Given the description of an element on the screen output the (x, y) to click on. 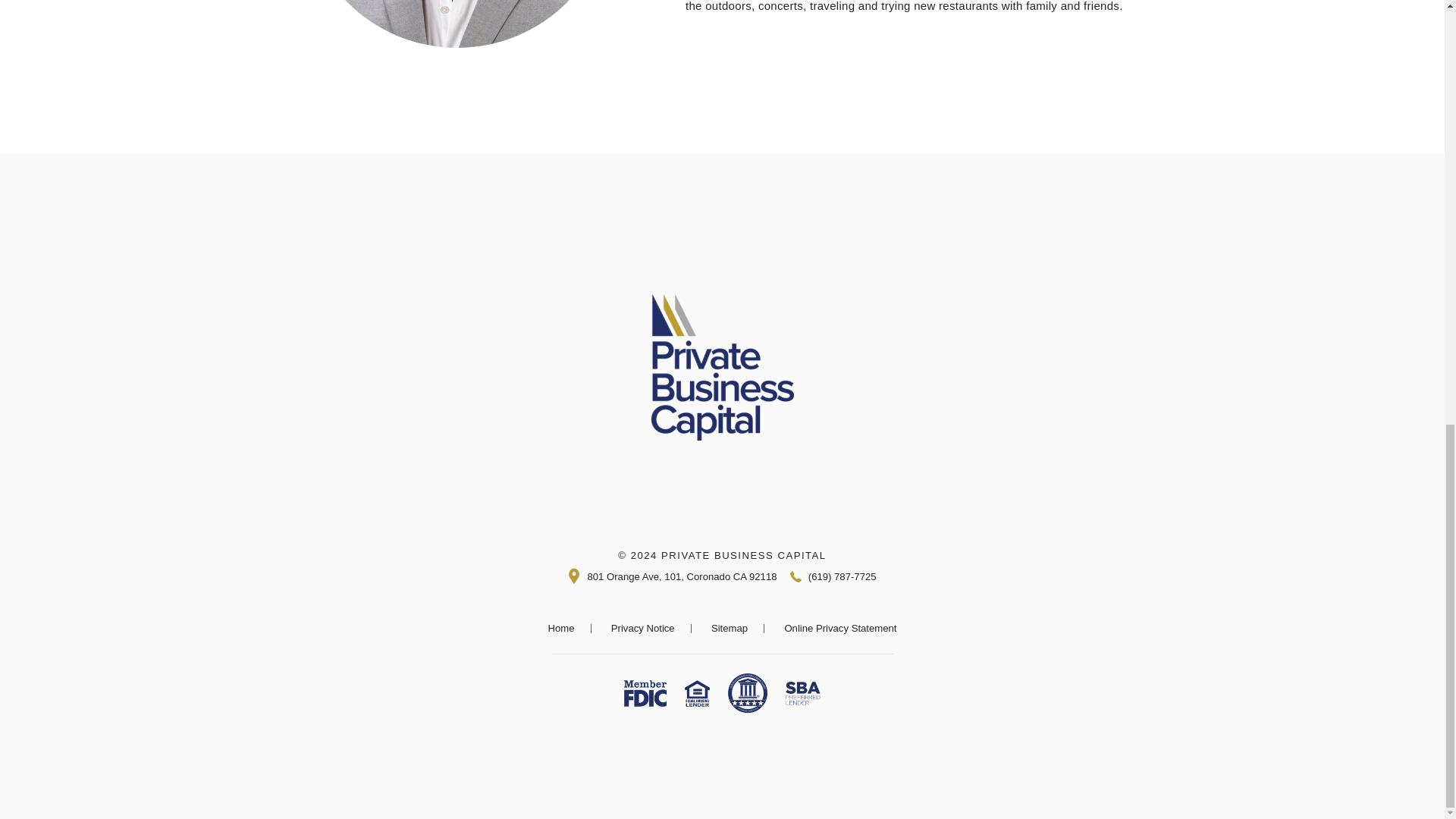
Home (561, 628)
Sitemap (729, 628)
Online Privacy Statement (840, 628)
Privacy Notice (643, 628)
